Given the description of an element on the screen output the (x, y) to click on. 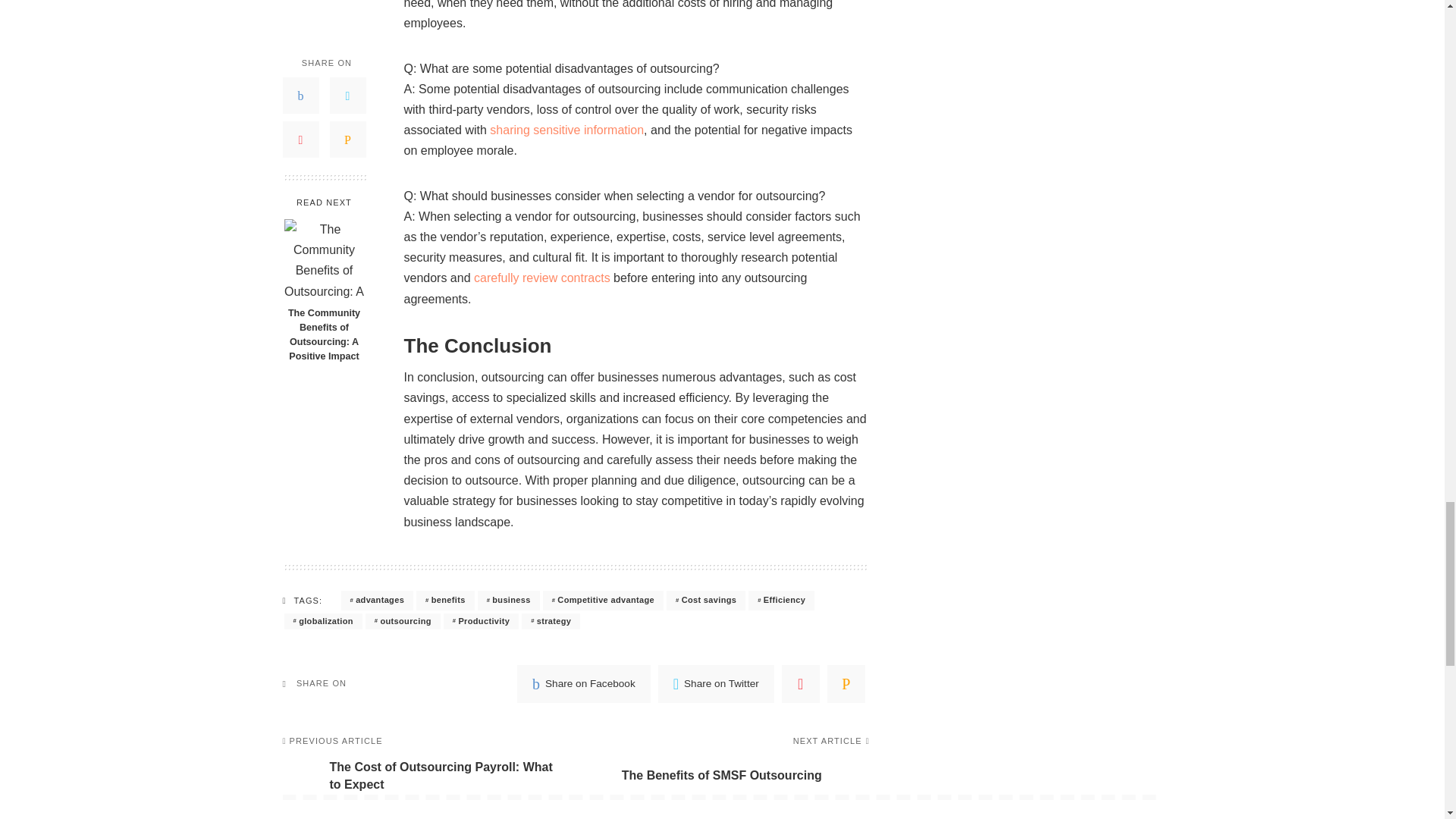
sharing sensitive information (566, 129)
benefits (445, 600)
Cost savings (705, 600)
carefully review contracts (542, 277)
advantages (376, 600)
business (508, 600)
Productivity (481, 621)
advantages (376, 600)
benefits (445, 600)
